Given the description of an element on the screen output the (x, y) to click on. 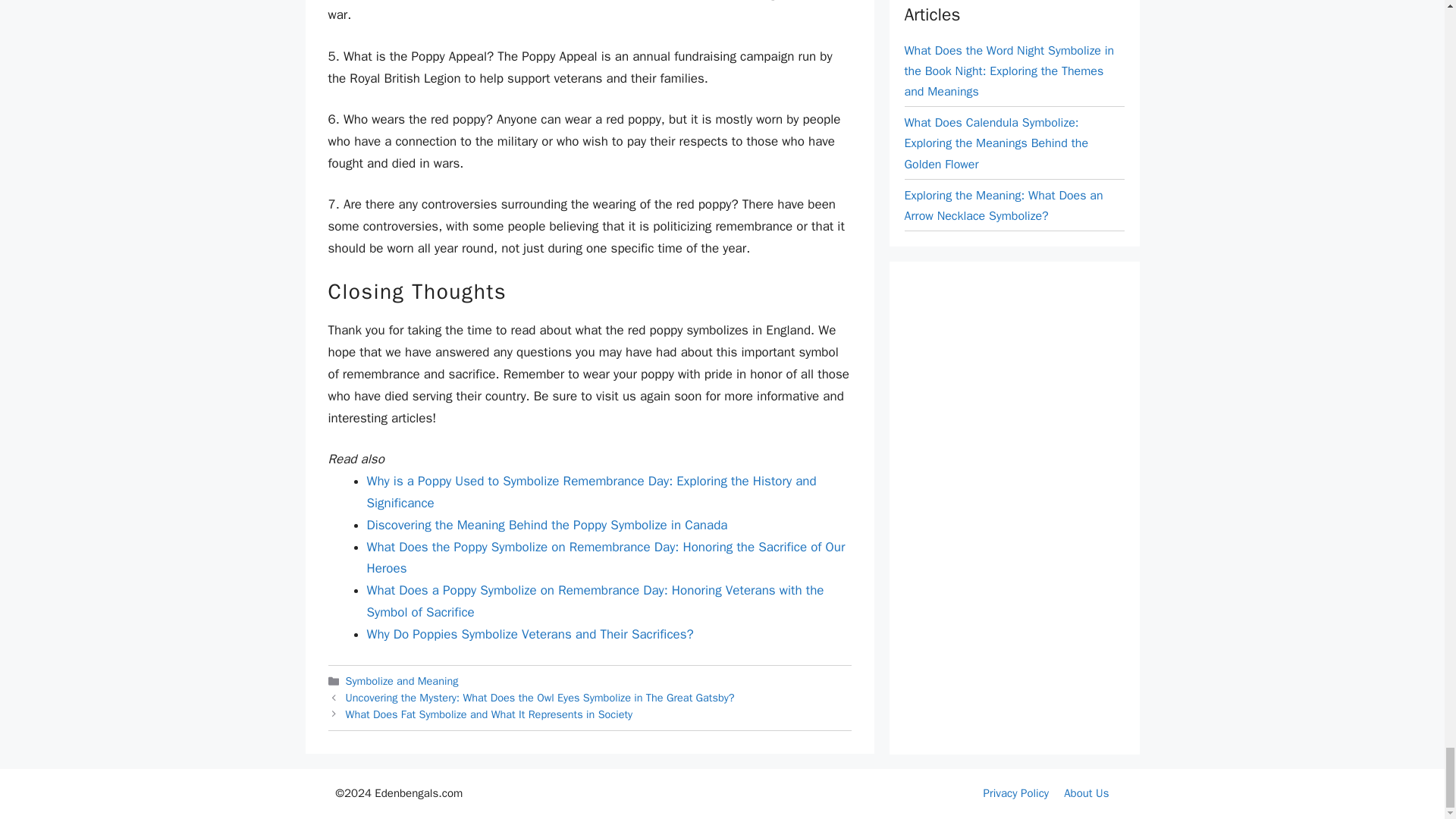
Symbolize and Meaning (402, 680)
Privacy Policy (1016, 793)
Why Do Poppies Symbolize Veterans and Their Sacrifices? (530, 634)
About Us (1086, 793)
What Does Fat Symbolize and What It Represents in Society (489, 714)
Discovering the Meaning Behind the Poppy Symbolize in Canada (547, 524)
